Given the description of an element on the screen output the (x, y) to click on. 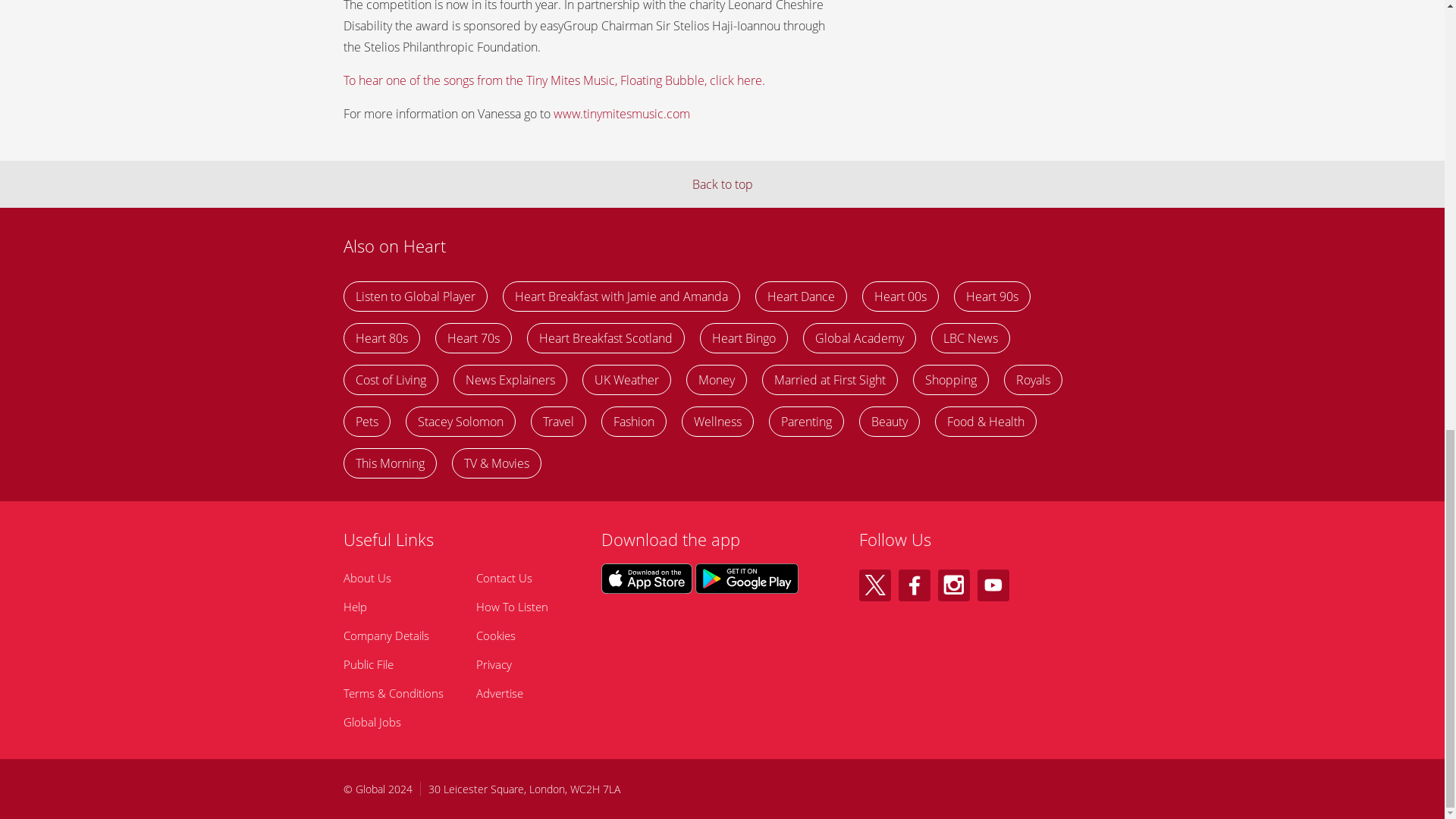
Follow Heart on X (874, 585)
Follow Heart on Youtube (992, 585)
Follow Heart on Instagram (953, 585)
Follow Heart on Facebook (914, 585)
Back to top (721, 184)
